Given the description of an element on the screen output the (x, y) to click on. 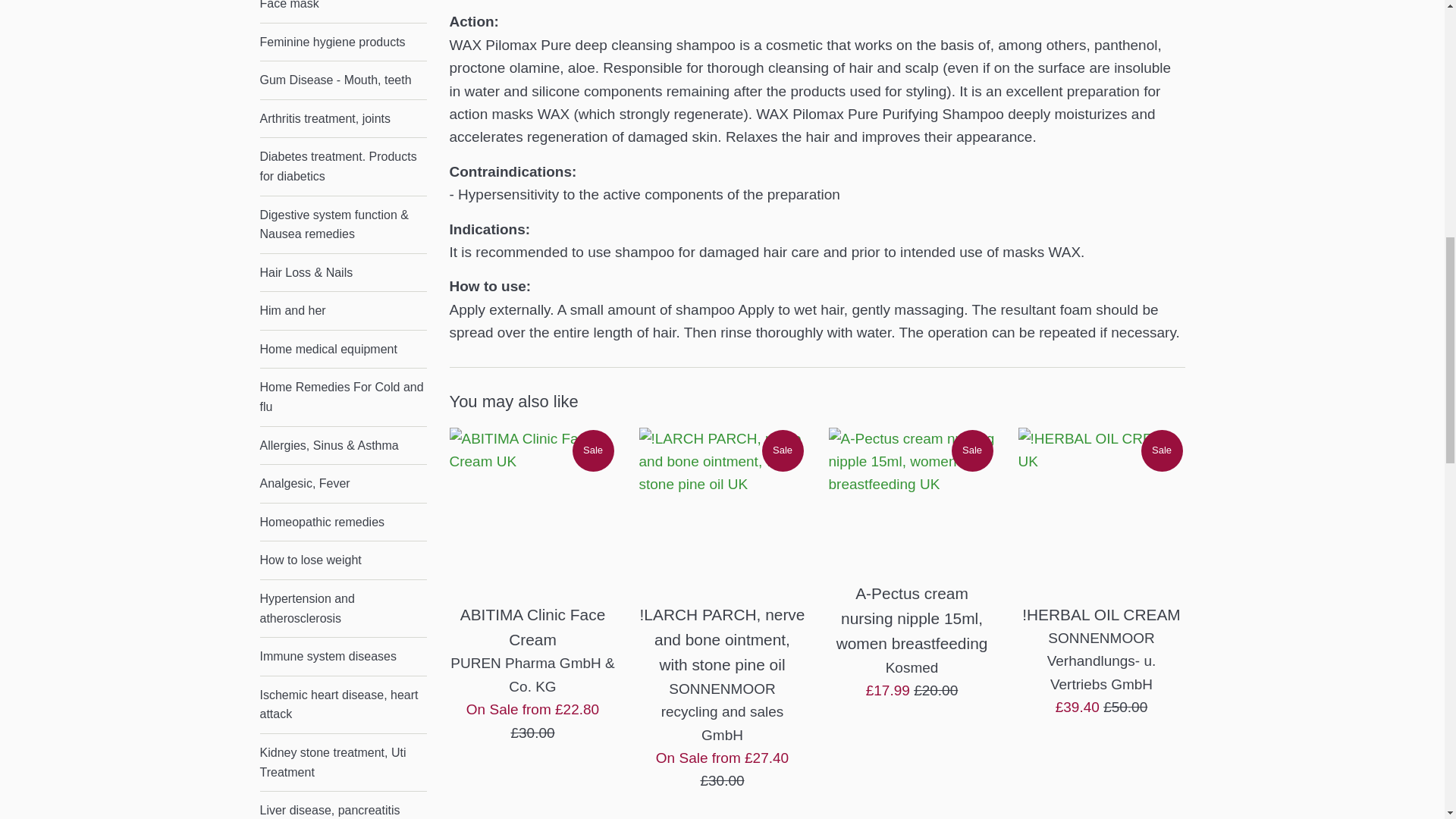
How to lose weight (342, 560)
Home medical equipment (342, 349)
!LARCH PARCH, nerve and bone ointment, with stone pine oil (722, 510)
Ischemic heart disease, heart attack (342, 704)
ABITIMA Clinic Face Cream (531, 510)
Arthritis treatment, joints (342, 118)
Gum Disease - Mouth, teeth (342, 80)
Face mask (342, 11)
Home Remedies For Cold and flu (342, 396)
Diabetes treatment. Products for diabetics (342, 166)
Homeopathic remedies (342, 522)
Him and her (342, 310)
!HERBAL OIL CREAM (1101, 510)
Hypertension and atherosclerosis (342, 608)
Feminine hygiene products (342, 42)
